Given the description of an element on the screen output the (x, y) to click on. 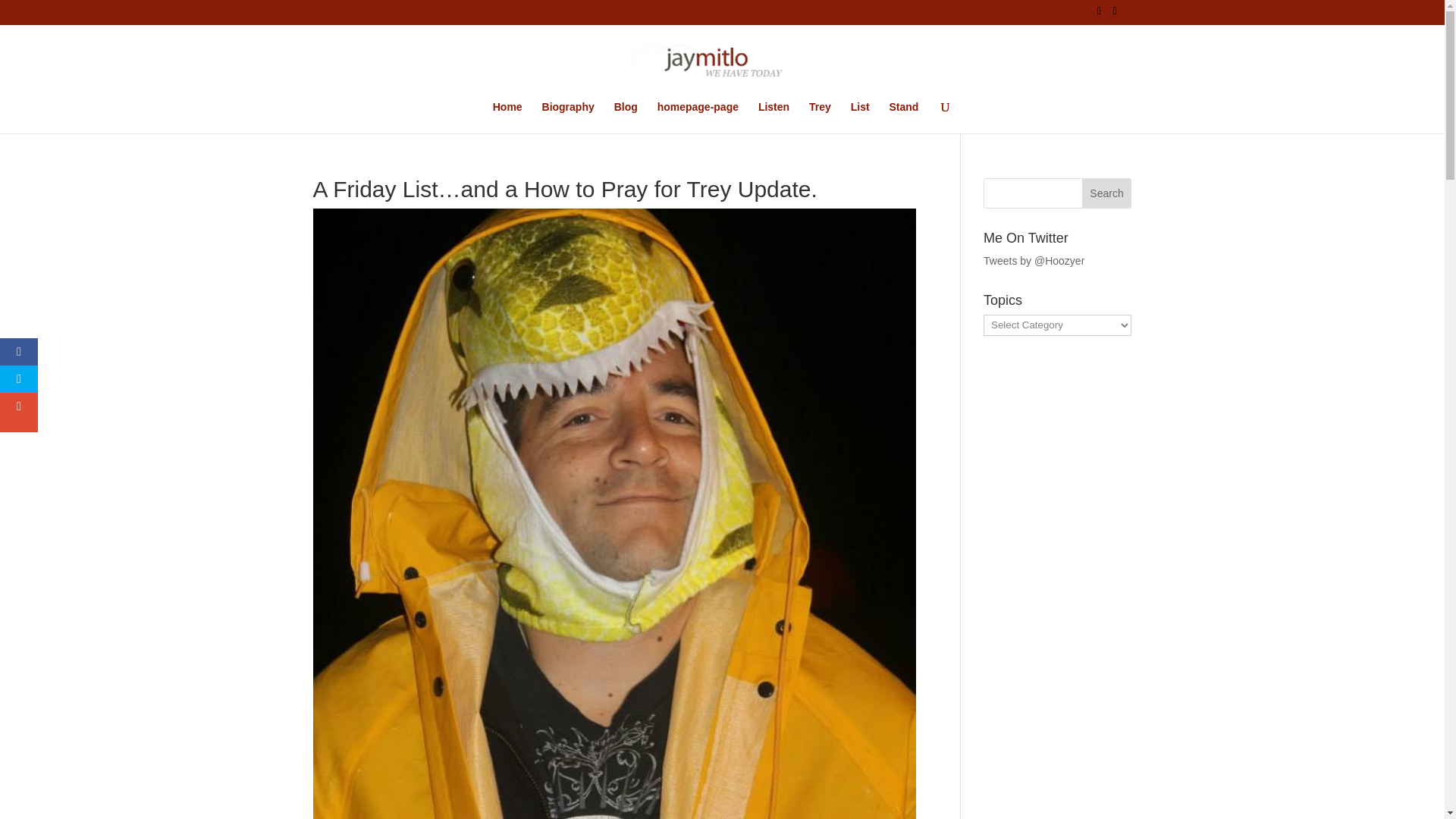
Search (1106, 193)
Stand (903, 117)
Home (507, 117)
Biography (567, 117)
Listen (773, 117)
homepage-page (698, 117)
Search (1106, 193)
